Given the description of an element on the screen output the (x, y) to click on. 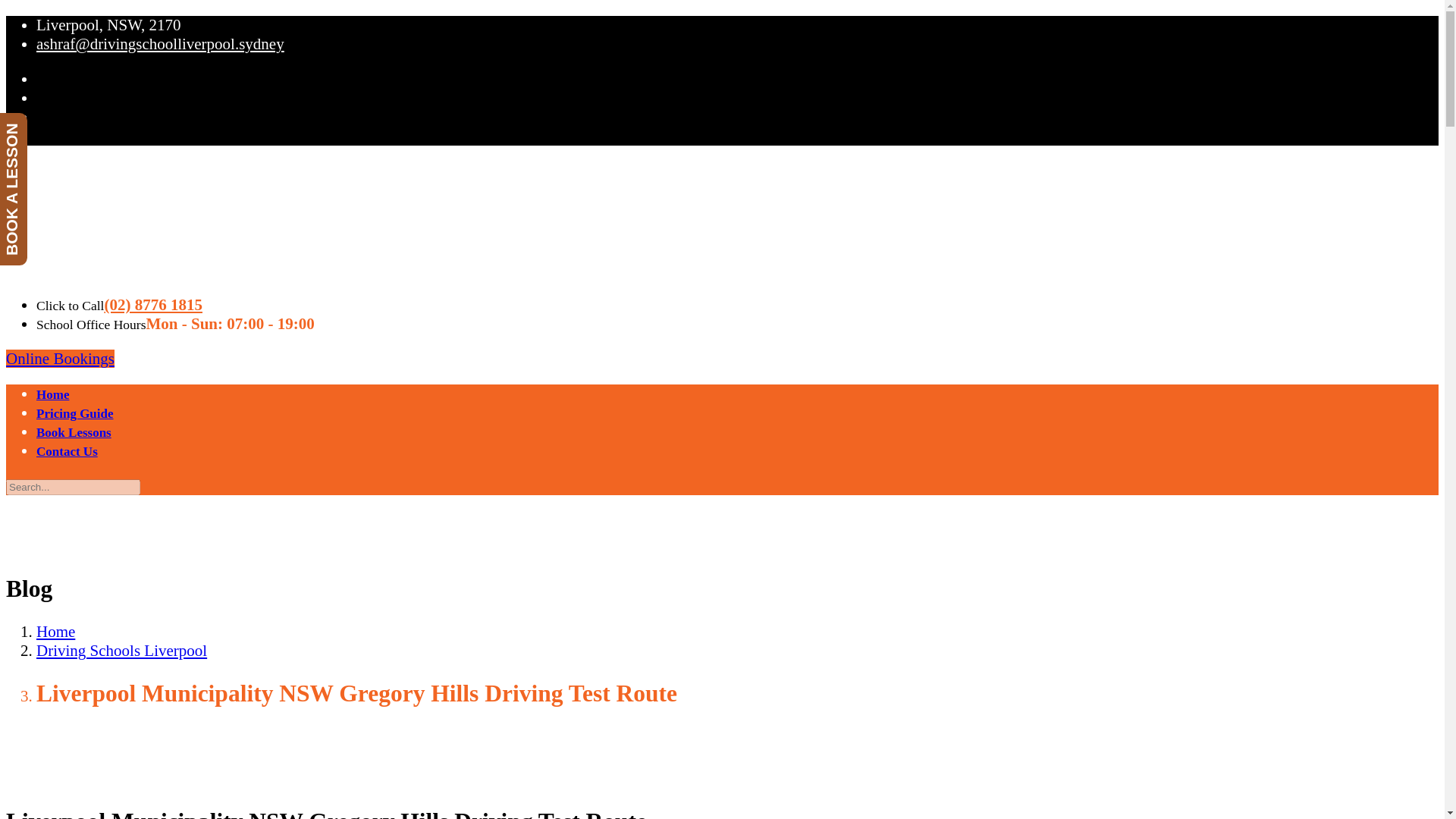
Driving Schools Liverpool (121, 650)
Driving School Liverpool Center (118, 270)
Home (52, 394)
Pricing Guide (74, 413)
Home (55, 631)
Book Lessons (74, 432)
Contact Us (66, 451)
Online Bookings (60, 358)
